Given the description of an element on the screen output the (x, y) to click on. 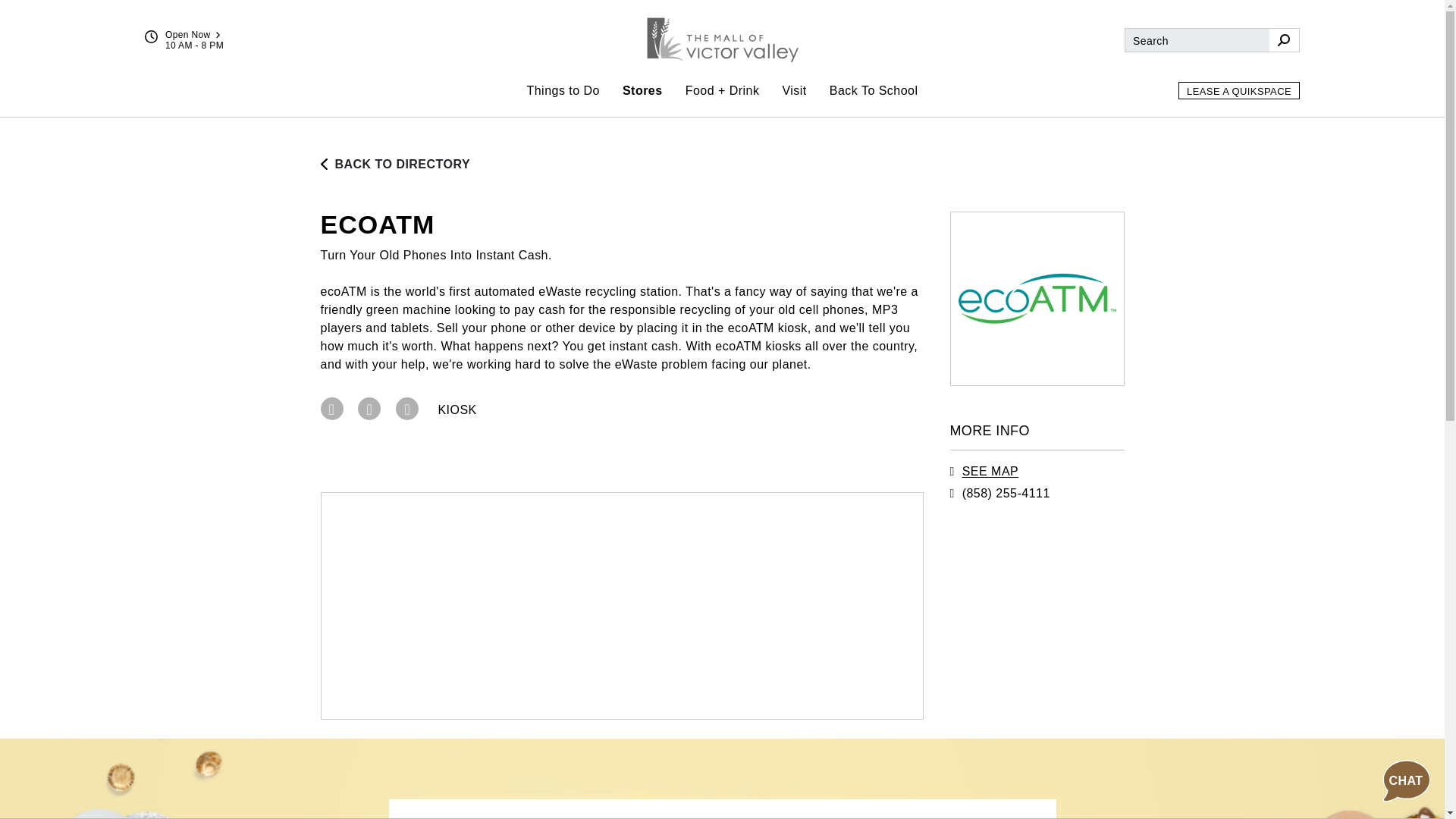
Things to Do (562, 90)
Back To School (874, 90)
LEASE A QUIKSPACE (1238, 90)
Stores (642, 90)
Open Now (194, 34)
